Given the description of an element on the screen output the (x, y) to click on. 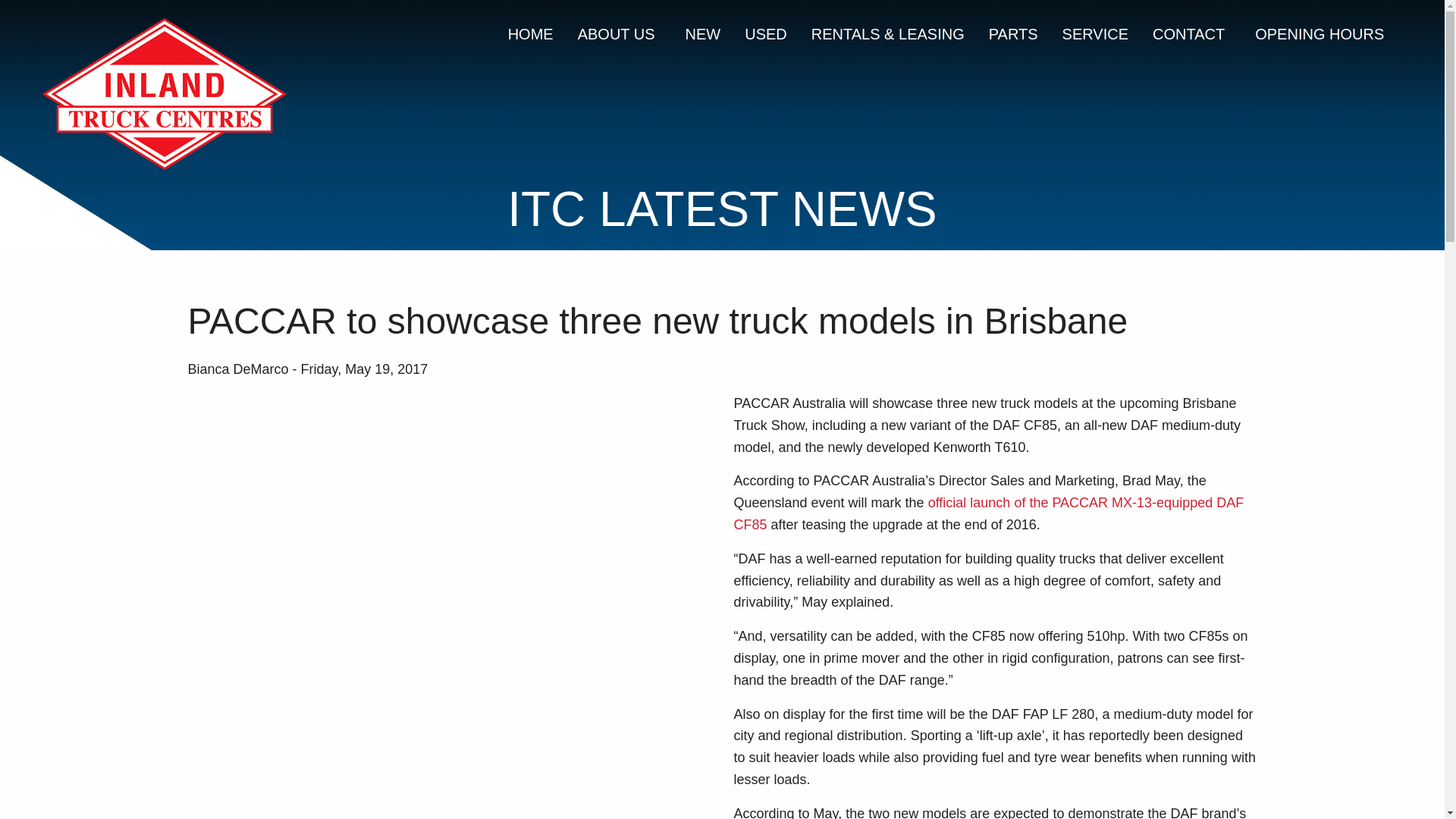
HOME (531, 33)
PARTS (1012, 33)
USED (765, 33)
SERVICE (1094, 33)
CONTACT (1191, 33)
NEW (702, 33)
OPENING HOURS (1319, 33)
official launch of the PACCAR MX-13-equipped DAF CF85 (988, 513)
ABOUT US (619, 33)
